Given the description of an element on the screen output the (x, y) to click on. 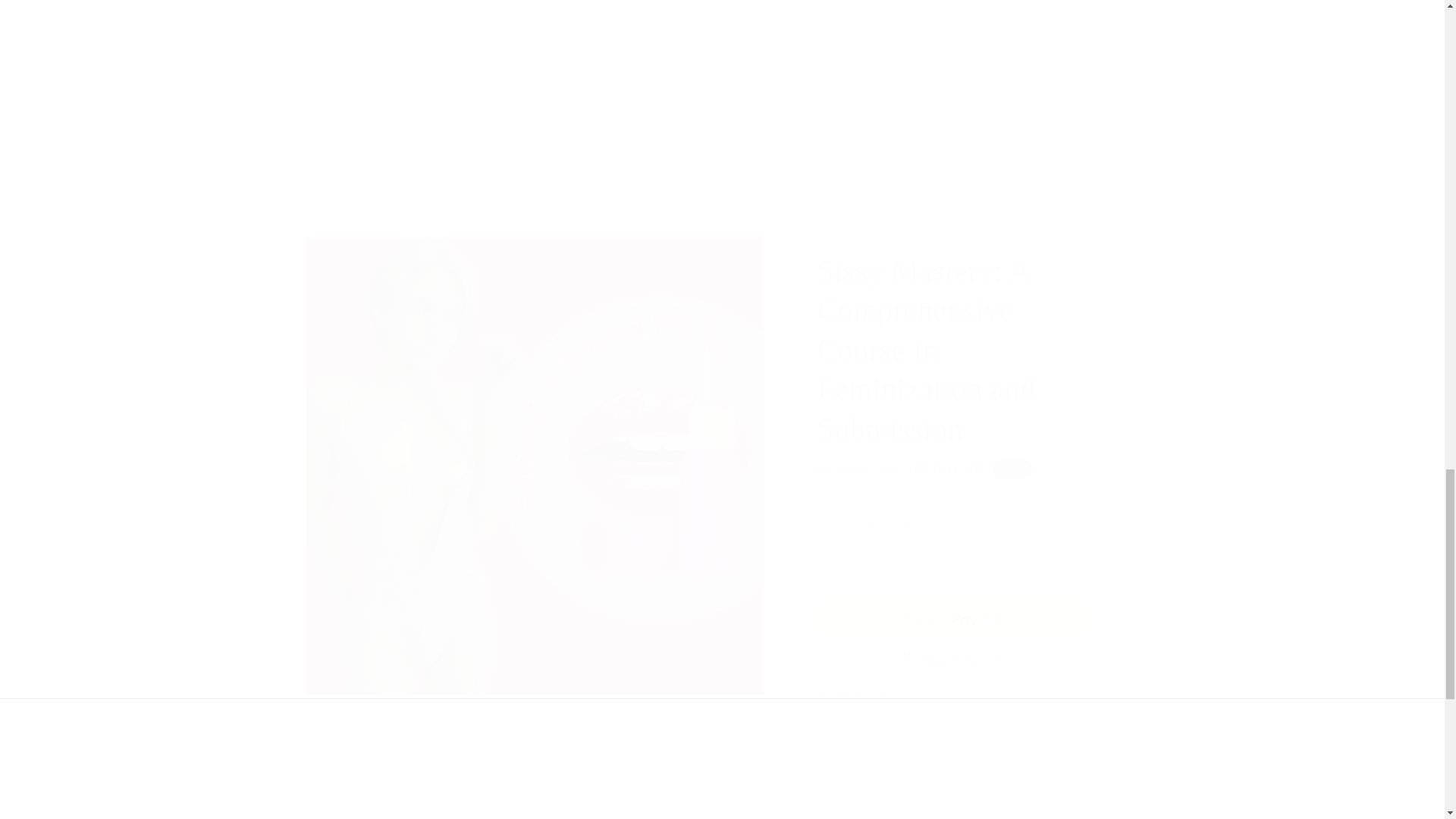
Sissy Chastity (826, 6)
Bestsellers (406, 6)
1 (870, 521)
Sissy Panties (617, 6)
